Given the description of an element on the screen output the (x, y) to click on. 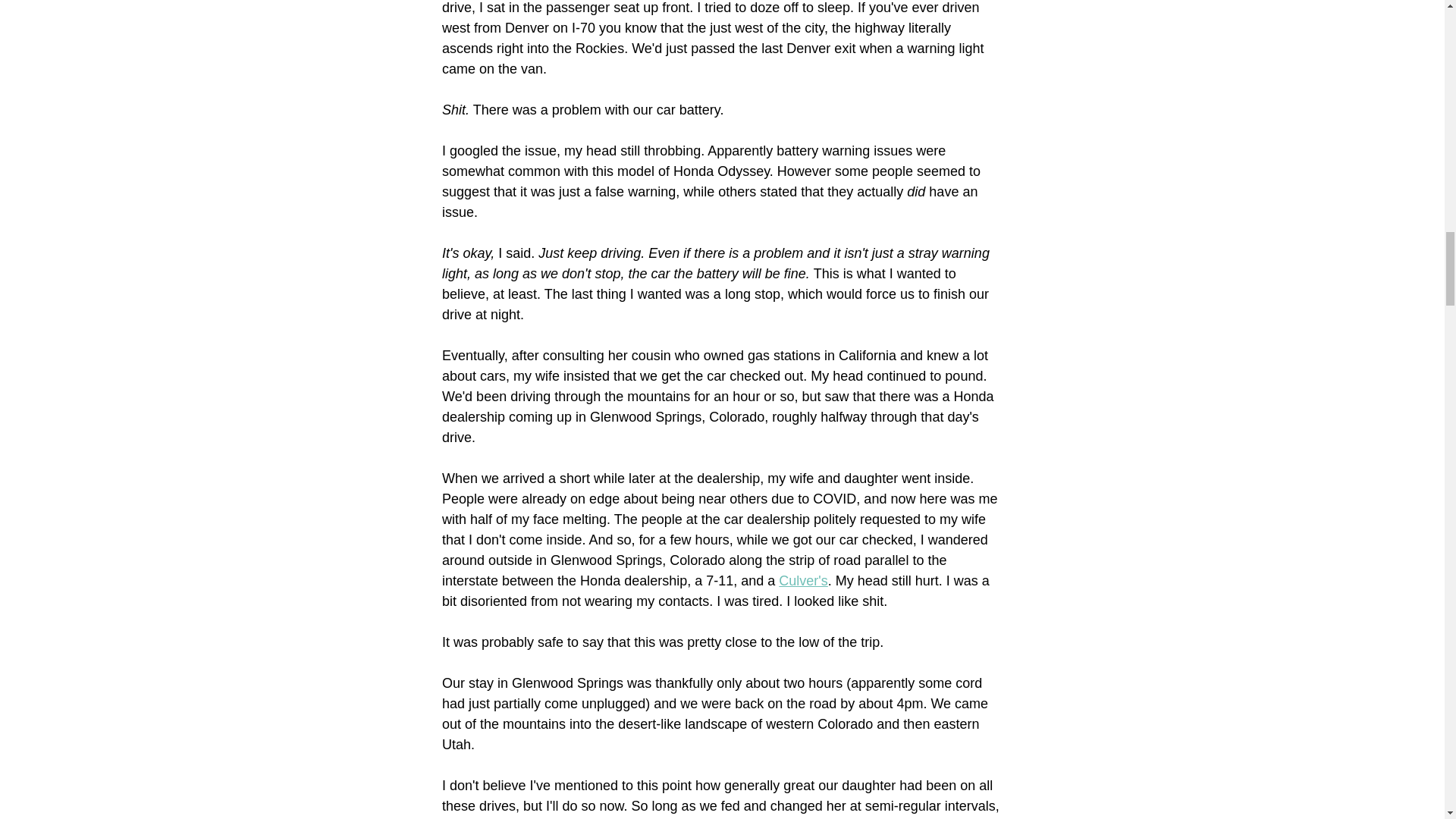
Culver's (802, 580)
